Given the description of an element on the screen output the (x, y) to click on. 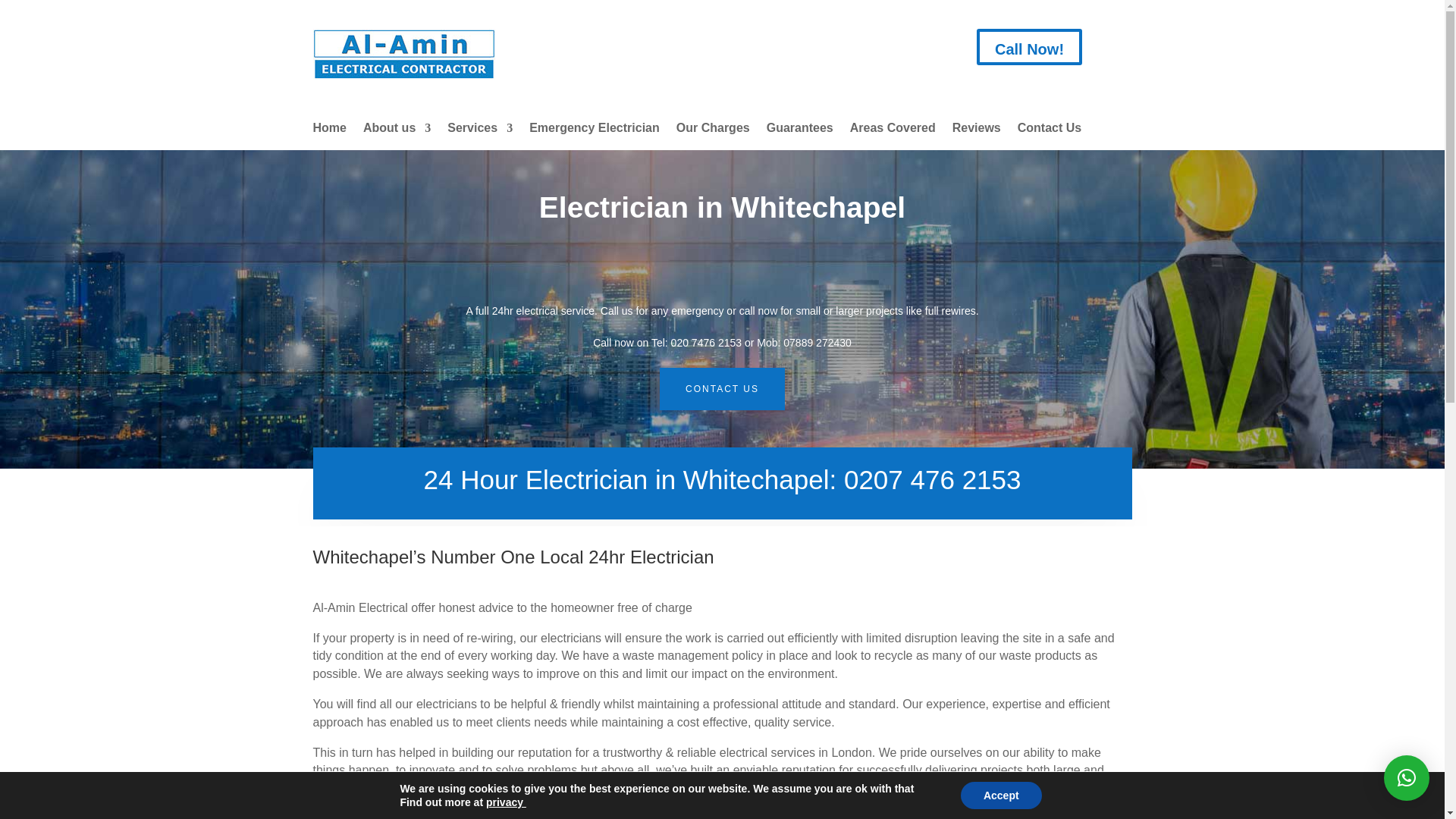
Contact Us (1049, 130)
Reviews (976, 130)
Guarantees (799, 130)
Call Now! (1028, 46)
About us (396, 130)
al-amin-logo (404, 53)
Emergency Electrician (594, 130)
Our Charges (713, 130)
Home (329, 130)
Areas Covered (893, 130)
Services (479, 130)
